Given the description of an element on the screen output the (x, y) to click on. 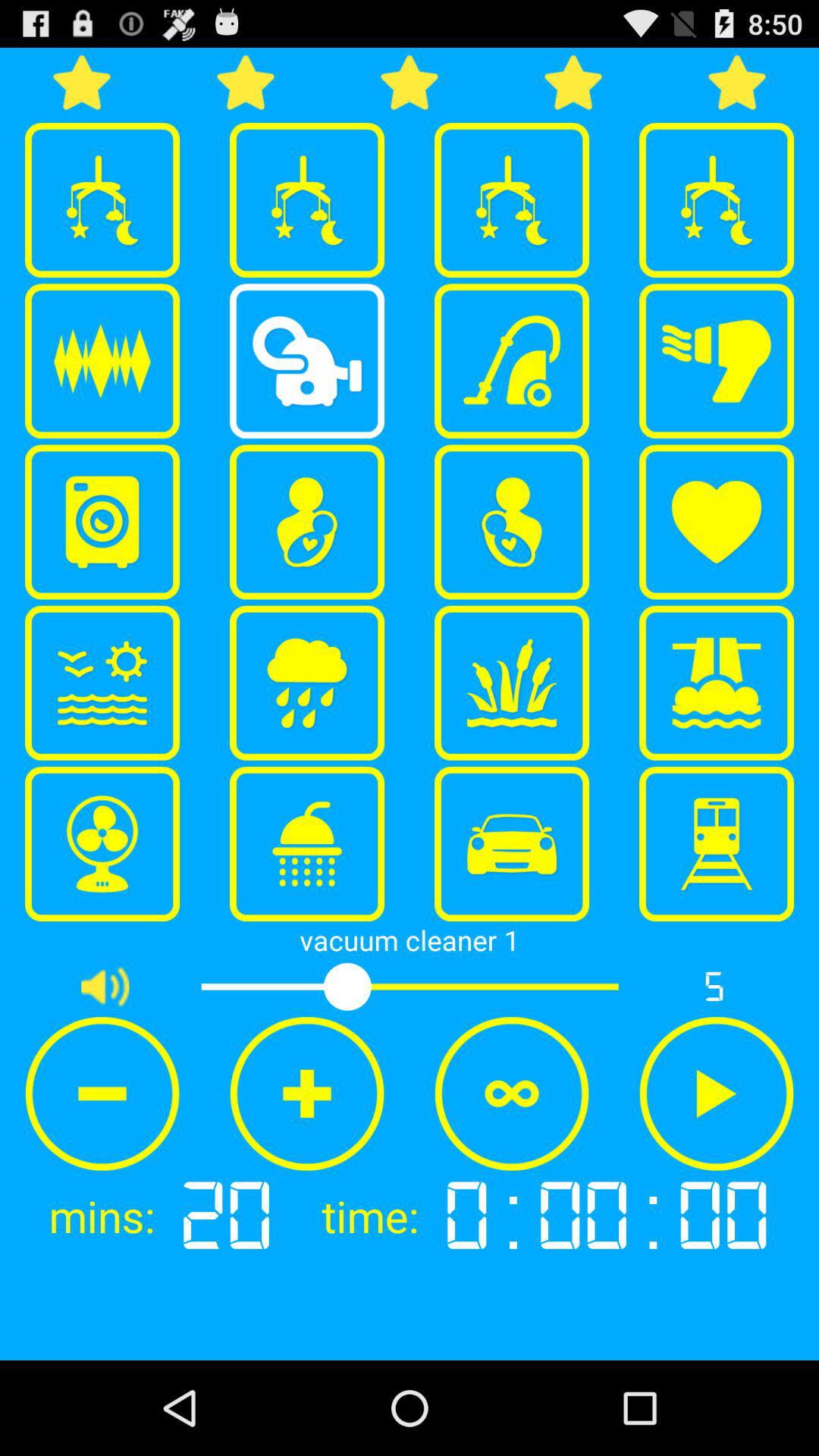
choose the item above the vacuum cleaner 1 icon (716, 843)
